Given the description of an element on the screen output the (x, y) to click on. 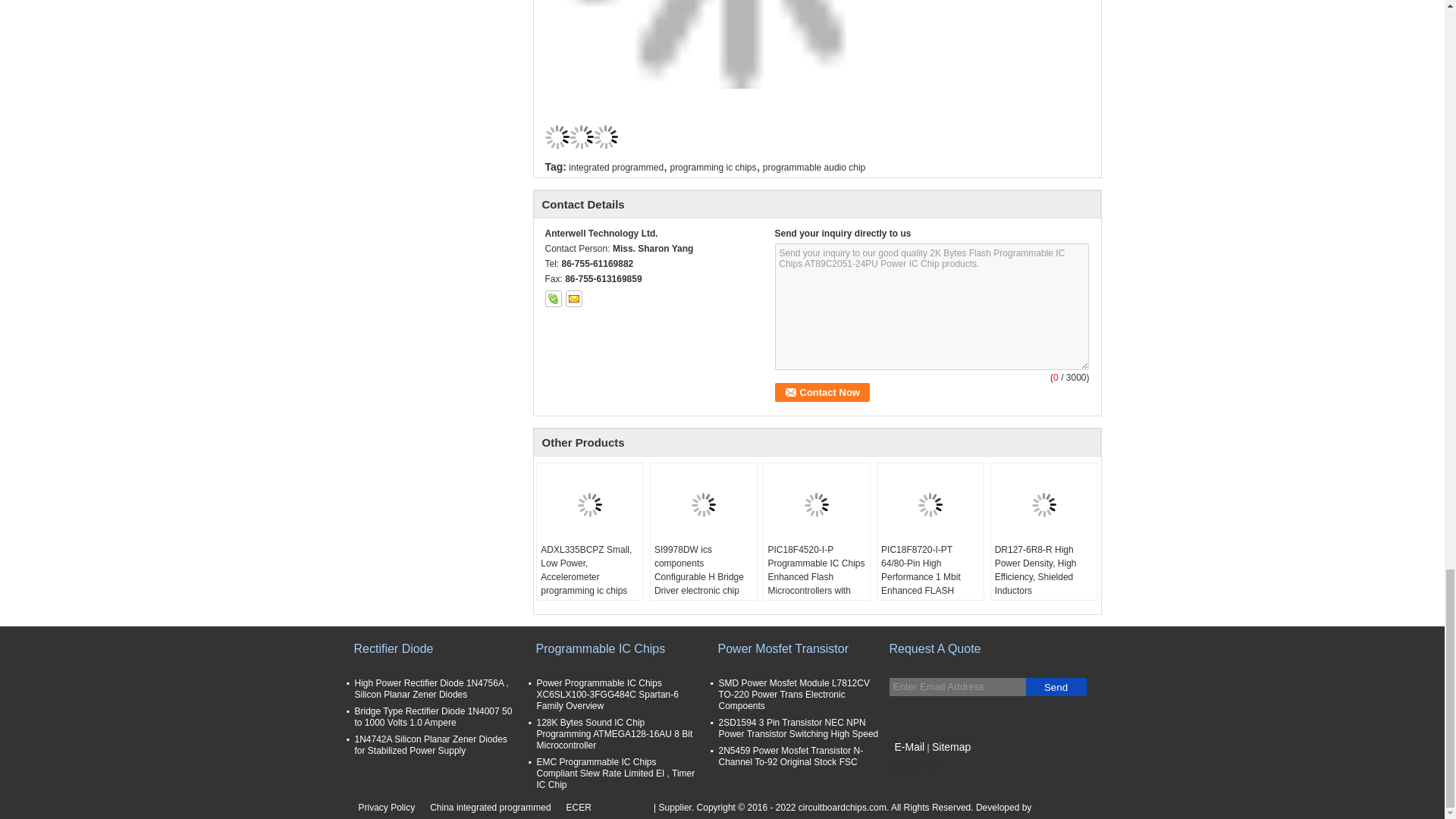
Contact Now (821, 392)
